Given the description of an element on the screen output the (x, y) to click on. 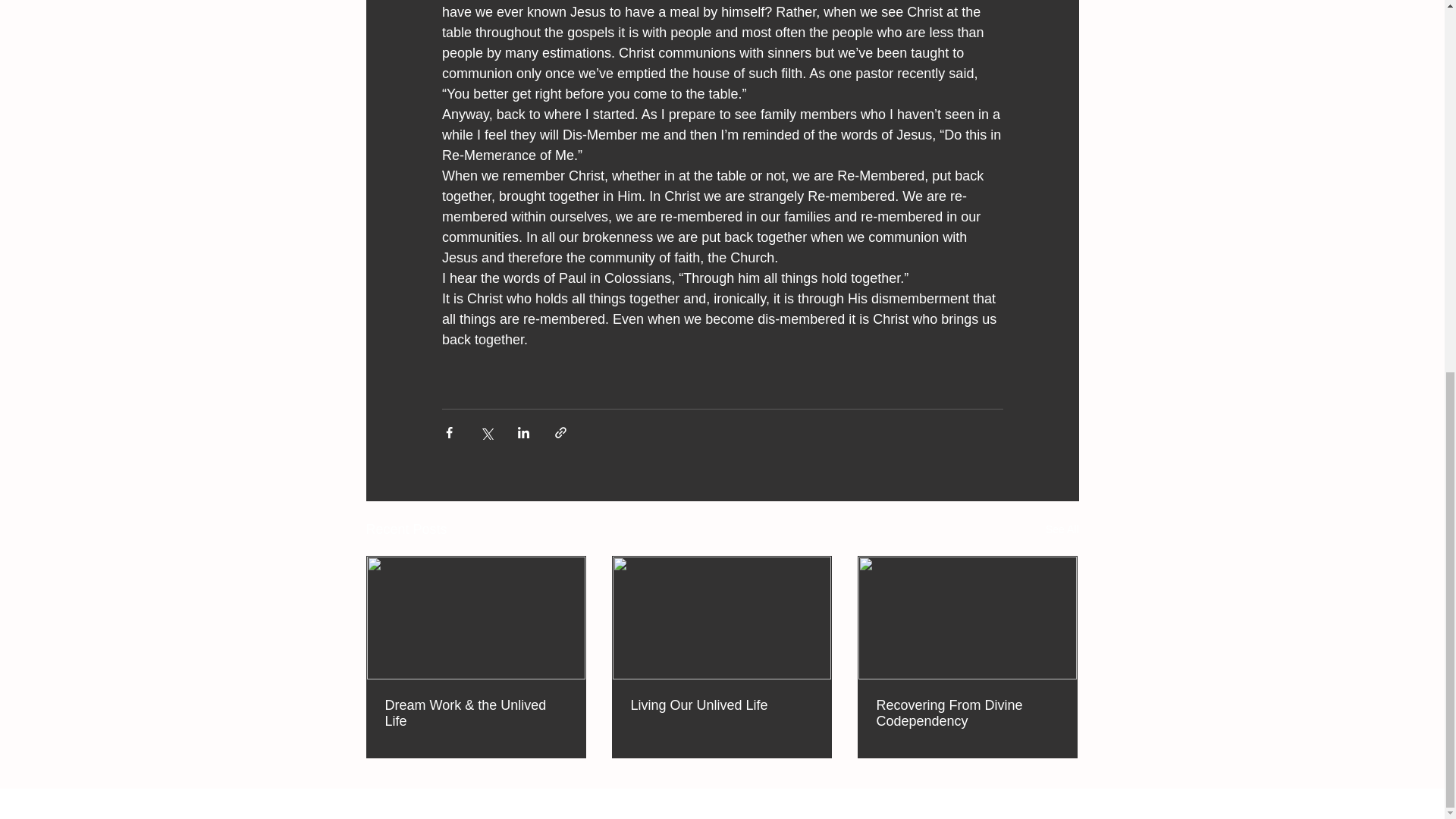
See All (1061, 529)
Living Our Unlived Life (721, 705)
Recovering From Divine Codependency (967, 713)
